Given the description of an element on the screen output the (x, y) to click on. 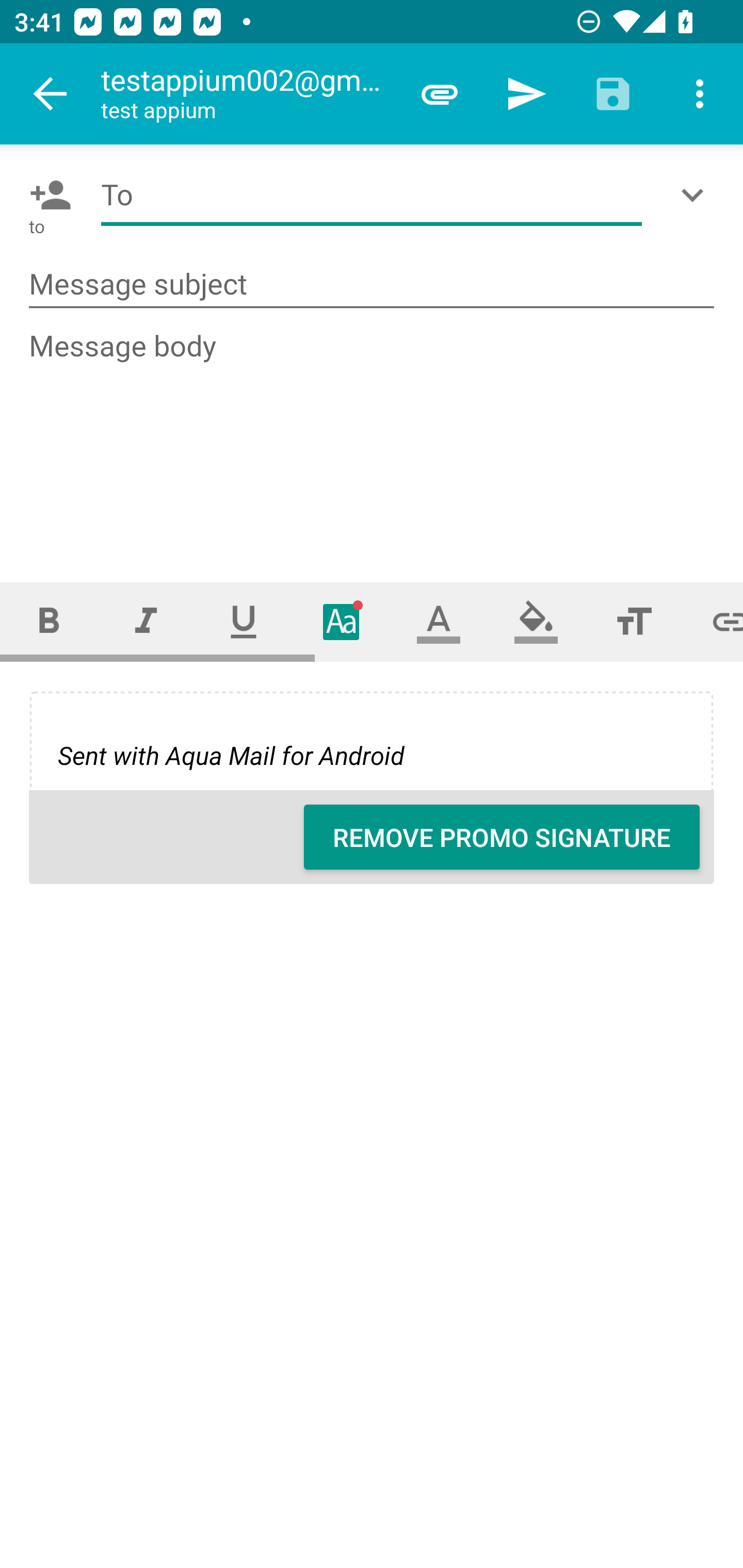
Navigate up (50, 93)
testappium002@gmail.com test appium (248, 93)
Attach (439, 93)
Send (525, 93)
Save (612, 93)
More options (699, 93)
Pick contact: To (46, 195)
Show/Add CC/BCC (696, 195)
To (371, 195)
Message subject (371, 284)
Message body (372, 438)
Bold (48, 621)
Italic (145, 621)
Underline (243, 621)
Typeface (font) (341, 621)
Text color (438, 621)
Fill color (536, 621)
Font size (633, 621)
REMOVE PROMO SIGNATURE (501, 837)
